Given the description of an element on the screen output the (x, y) to click on. 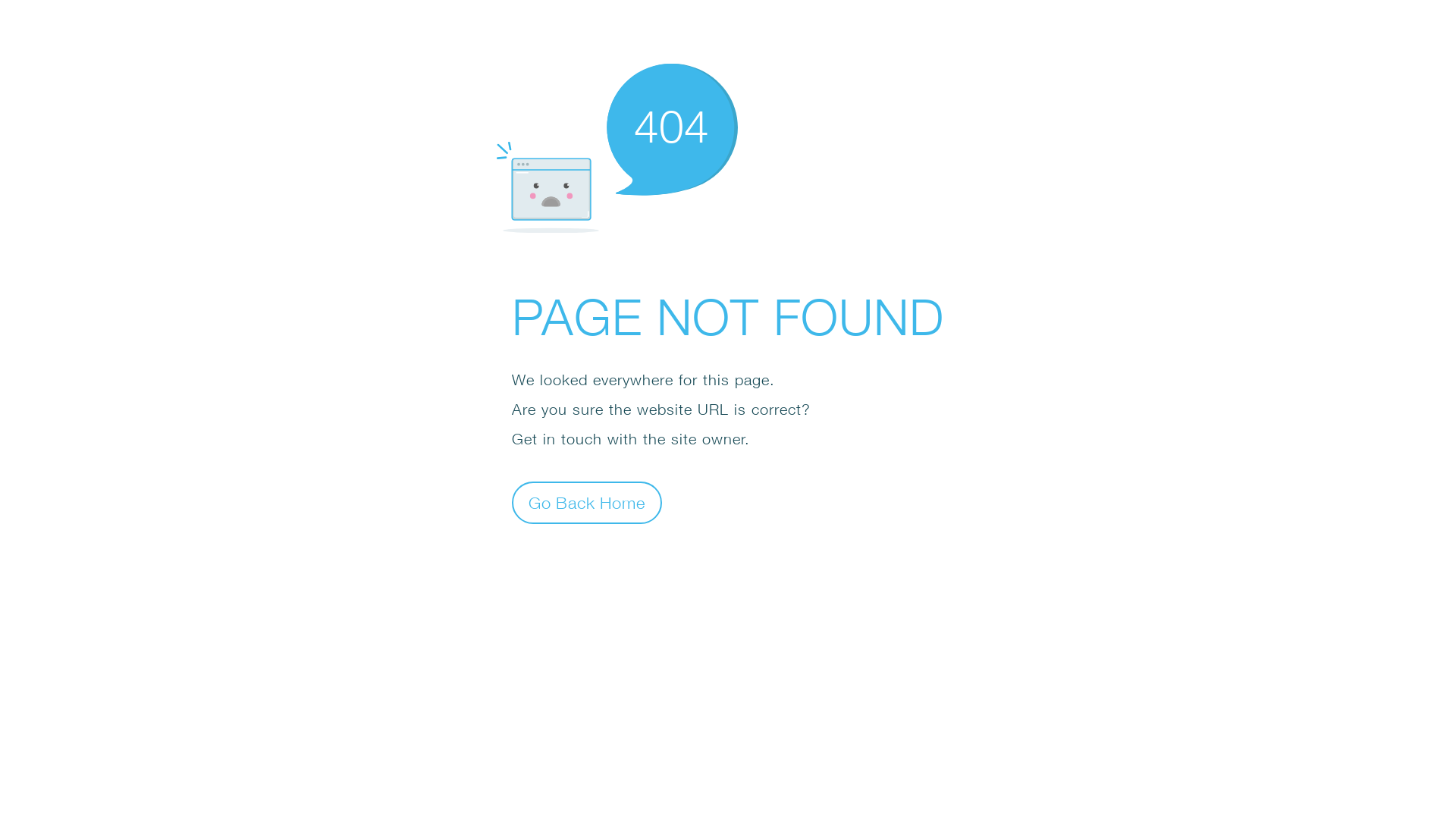
Go Back Home Element type: text (586, 502)
